Given the description of an element on the screen output the (x, y) to click on. 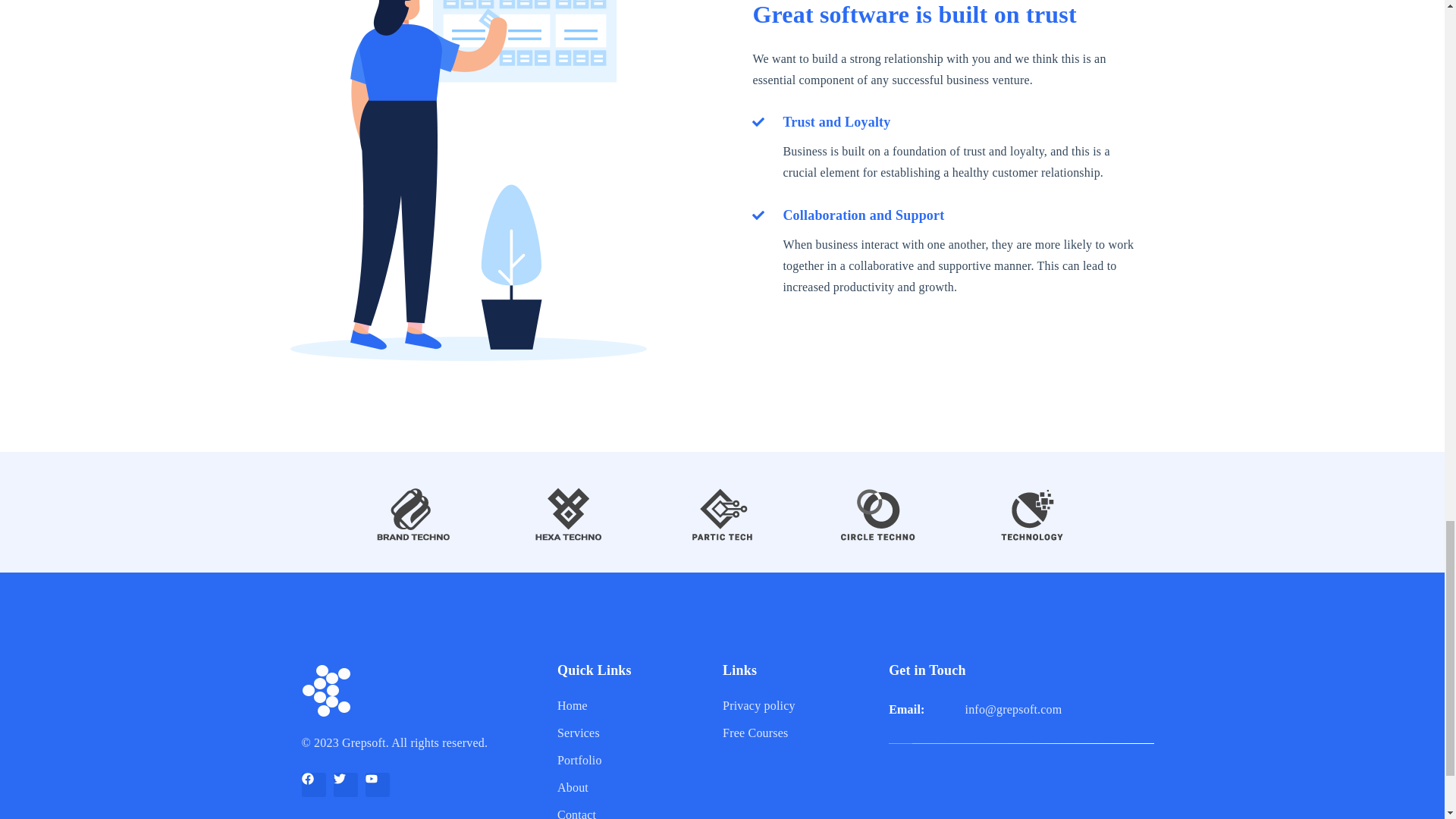
Privacy policy (799, 705)
Free Courses (799, 732)
Home (628, 705)
About (628, 787)
Contact (628, 810)
Portfolio (628, 759)
Services (628, 732)
